Given the description of an element on the screen output the (x, y) to click on. 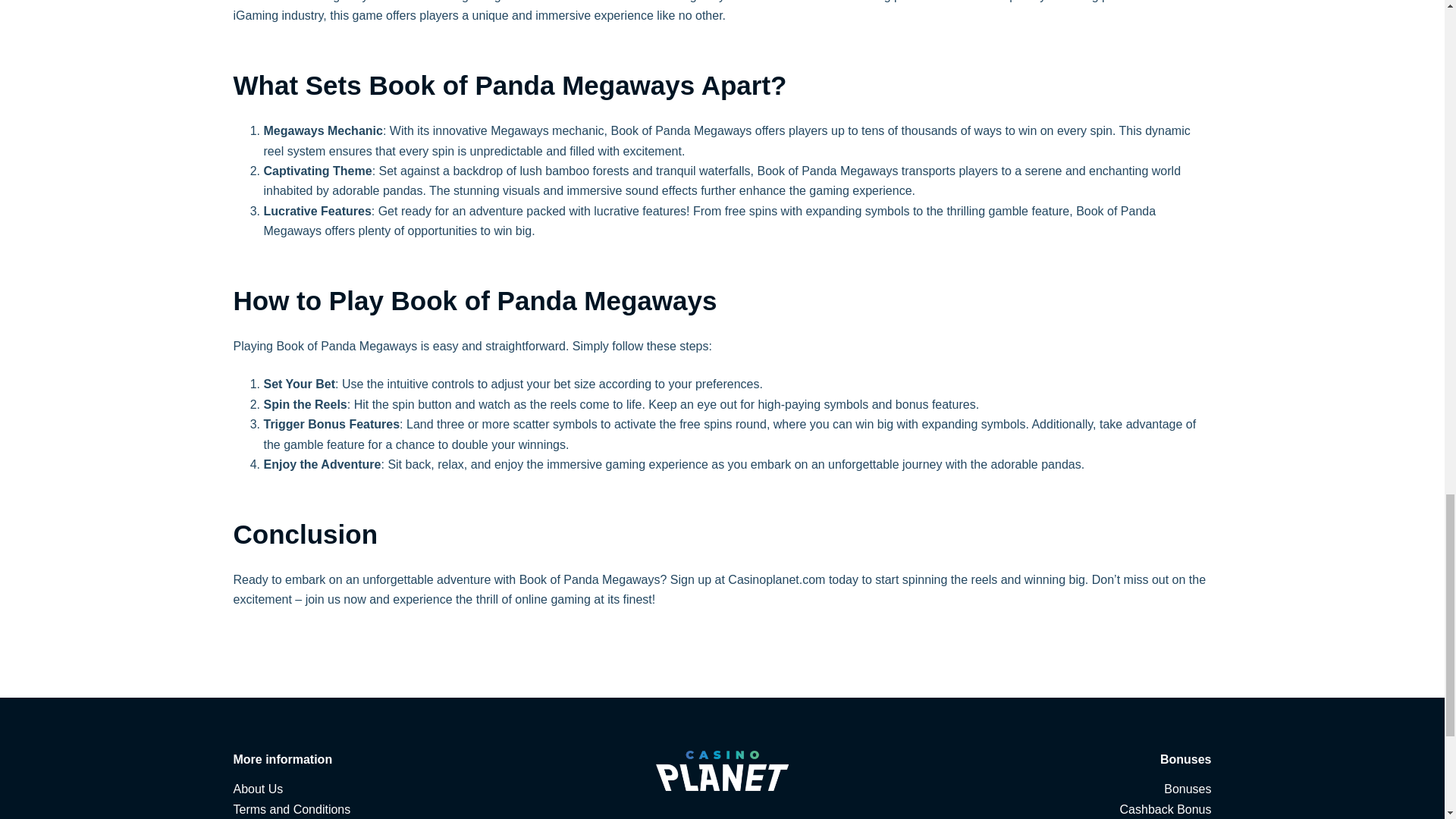
About Us (257, 788)
Terms and Conditions (291, 809)
